Given the description of an element on the screen output the (x, y) to click on. 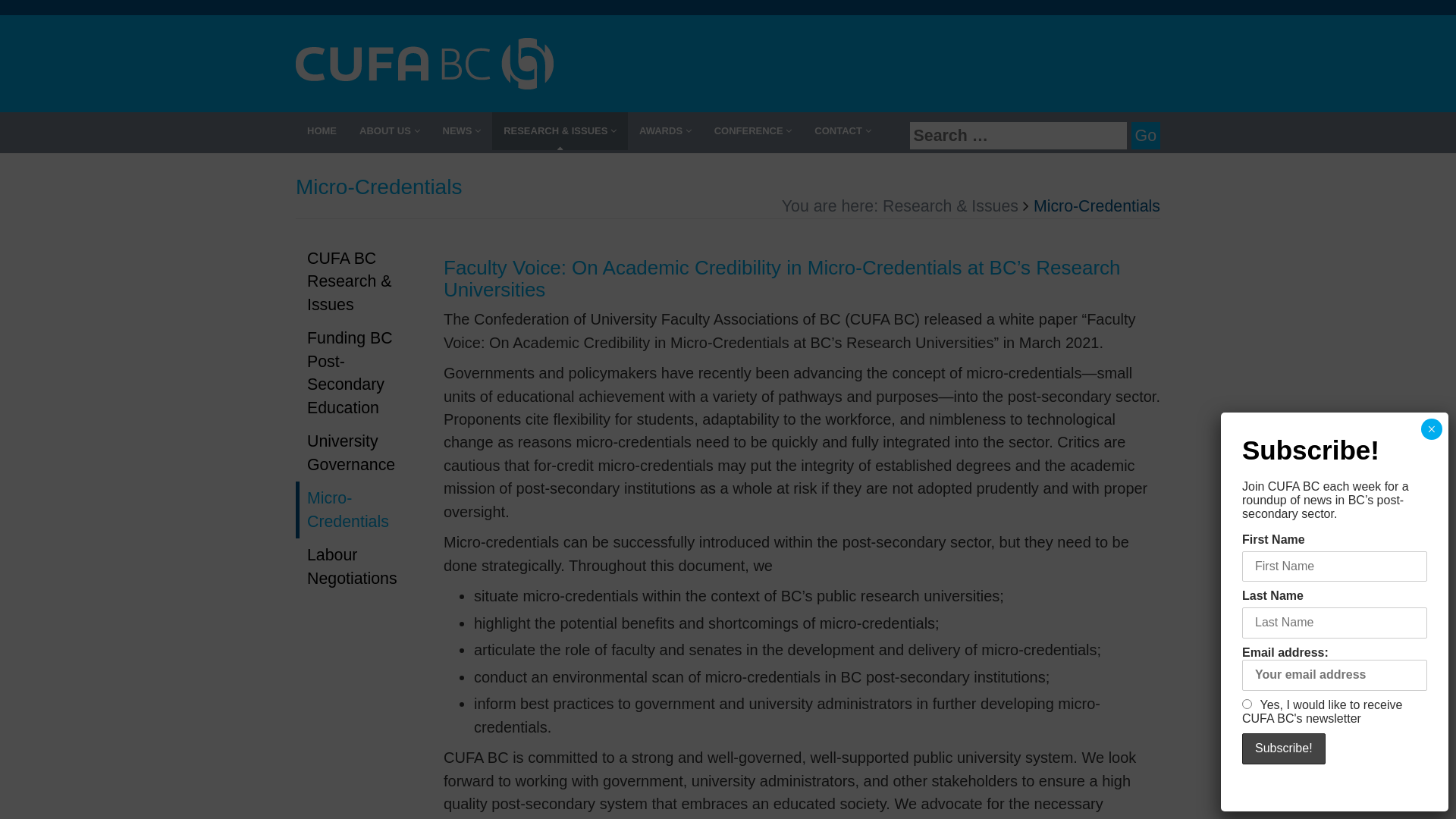
CONTACT Element type: text (842, 131)
ABOUT US Element type: text (389, 131)
Labour Negotiations Element type: text (357, 566)
RESEARCH & ISSUES Element type: text (559, 131)
Search for: Element type: hover (1018, 135)
CUFA BC Research & Issues Element type: text (357, 281)
NEWS Element type: text (461, 131)
HOME Element type: text (321, 131)
CONFERENCE Element type: text (752, 131)
Go Element type: text (1145, 135)
Micro-Credentials Element type: text (1096, 206)
University Governance Element type: text (357, 452)
Subscribe! Element type: text (1283, 748)
Micro-Credentials Element type: text (357, 509)
AWARDS Element type: text (664, 131)
Research & Issues Element type: text (950, 206)
Funding BC Post-Secondary Education Element type: text (357, 372)
